Given the description of an element on the screen output the (x, y) to click on. 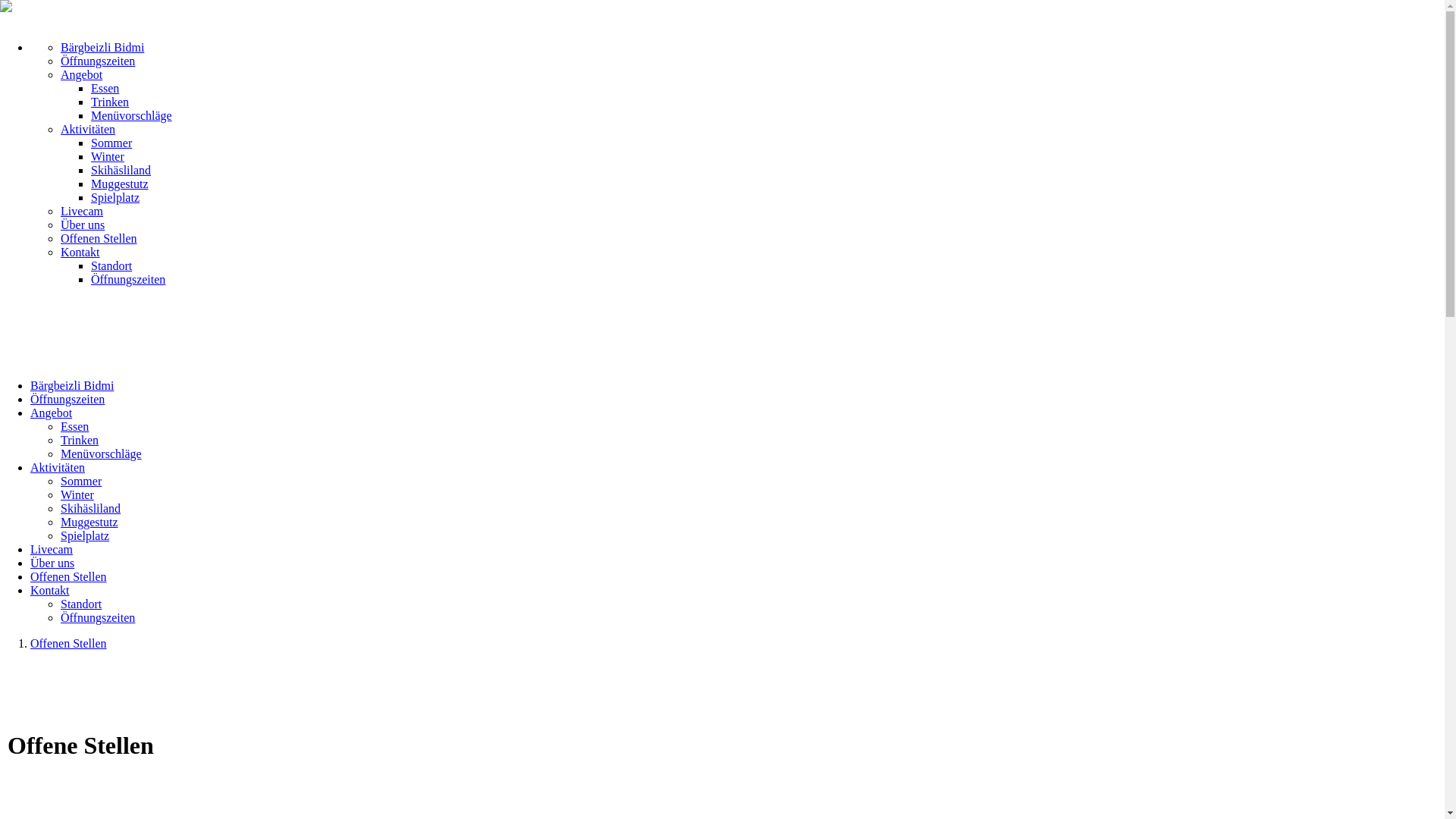
Standort Element type: text (80, 603)
Livecam Element type: text (81, 210)
Offenen Stellen Element type: text (68, 643)
Sommer Element type: text (80, 480)
Essen Element type: text (74, 426)
Sommer Element type: text (111, 142)
Muggestutz Element type: text (89, 521)
Offenen Stellen Element type: text (98, 238)
Spielplatz Element type: text (84, 535)
Angebot Element type: text (51, 412)
Winter Element type: text (77, 494)
Essen Element type: text (105, 87)
Offenen Stellen Element type: text (68, 576)
Livecam Element type: text (51, 548)
Angebot Element type: text (81, 74)
Muggestutz Element type: text (119, 183)
Kontakt Element type: text (80, 251)
Kontakt Element type: text (49, 589)
Winter Element type: text (107, 156)
Spielplatz Element type: text (115, 197)
Trinken Element type: text (109, 101)
Standort Element type: text (111, 265)
Trinken Element type: text (79, 439)
